Given the description of an element on the screen output the (x, y) to click on. 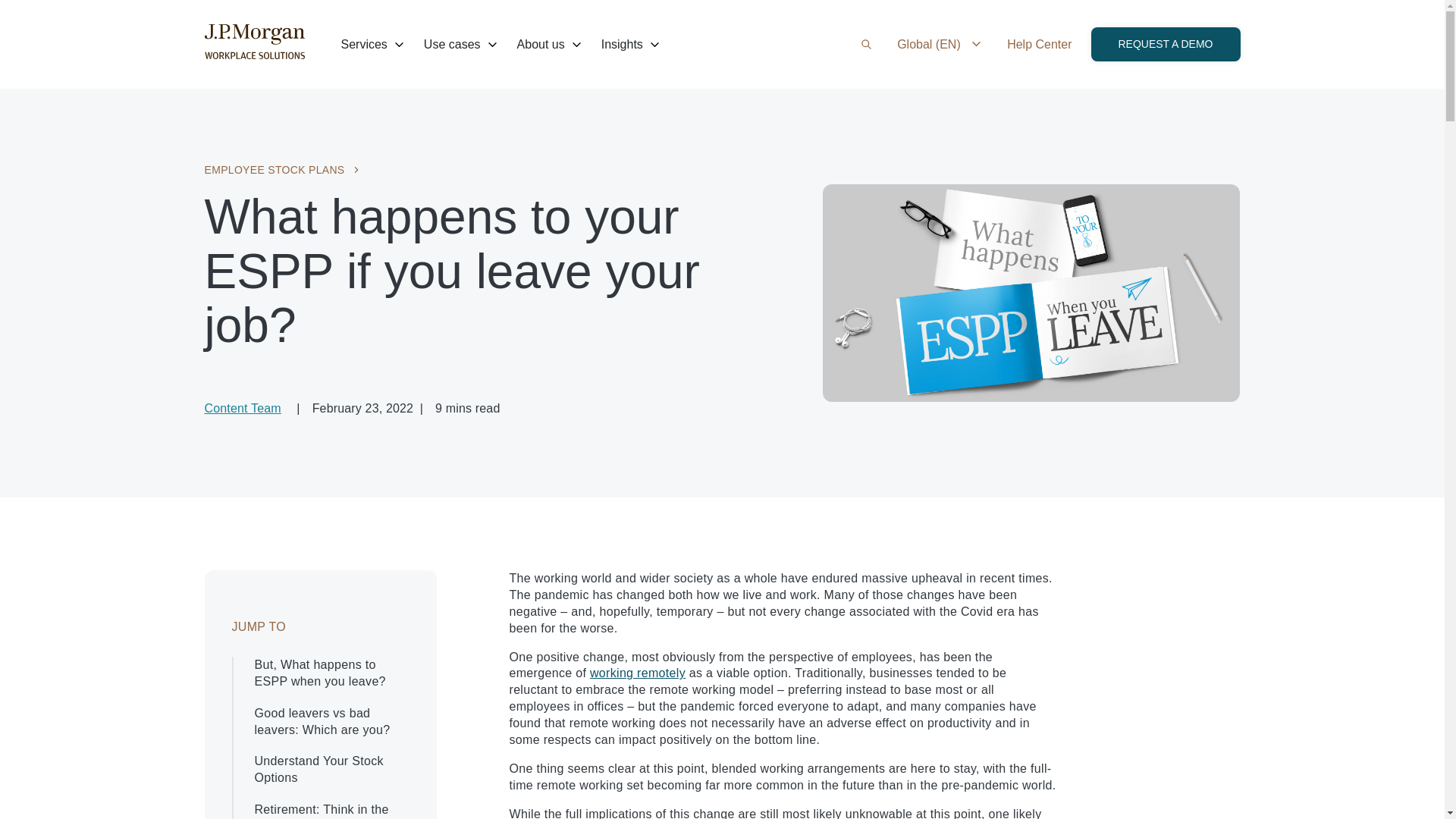
Request a demo (1165, 44)
REQUEST A DEMO (1165, 44)
Help Center (1039, 43)
Help Center (1039, 43)
GlobalShares.com (254, 54)
